Given the description of an element on the screen output the (x, y) to click on. 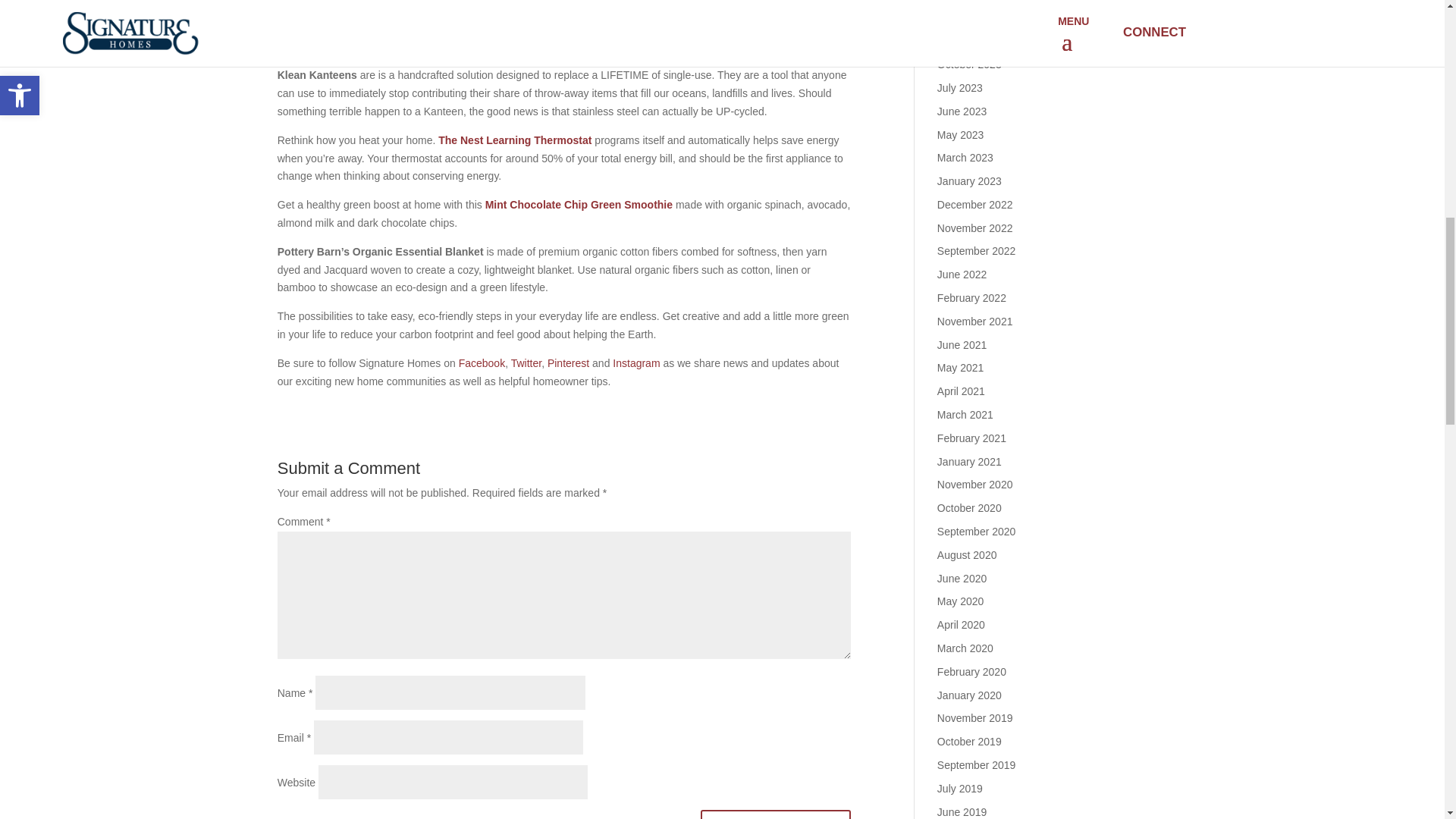
Submit Comment (775, 814)
Solar Powered Keyboard (405, 10)
Mint Chocolate Chip Green Smoothie (578, 204)
Facebook (481, 363)
Twitter (526, 363)
The Nest Learning Thermostat (514, 140)
Instagram (635, 363)
Bay Meadows on Facebook (481, 363)
Pinterest (568, 363)
